Given the description of an element on the screen output the (x, y) to click on. 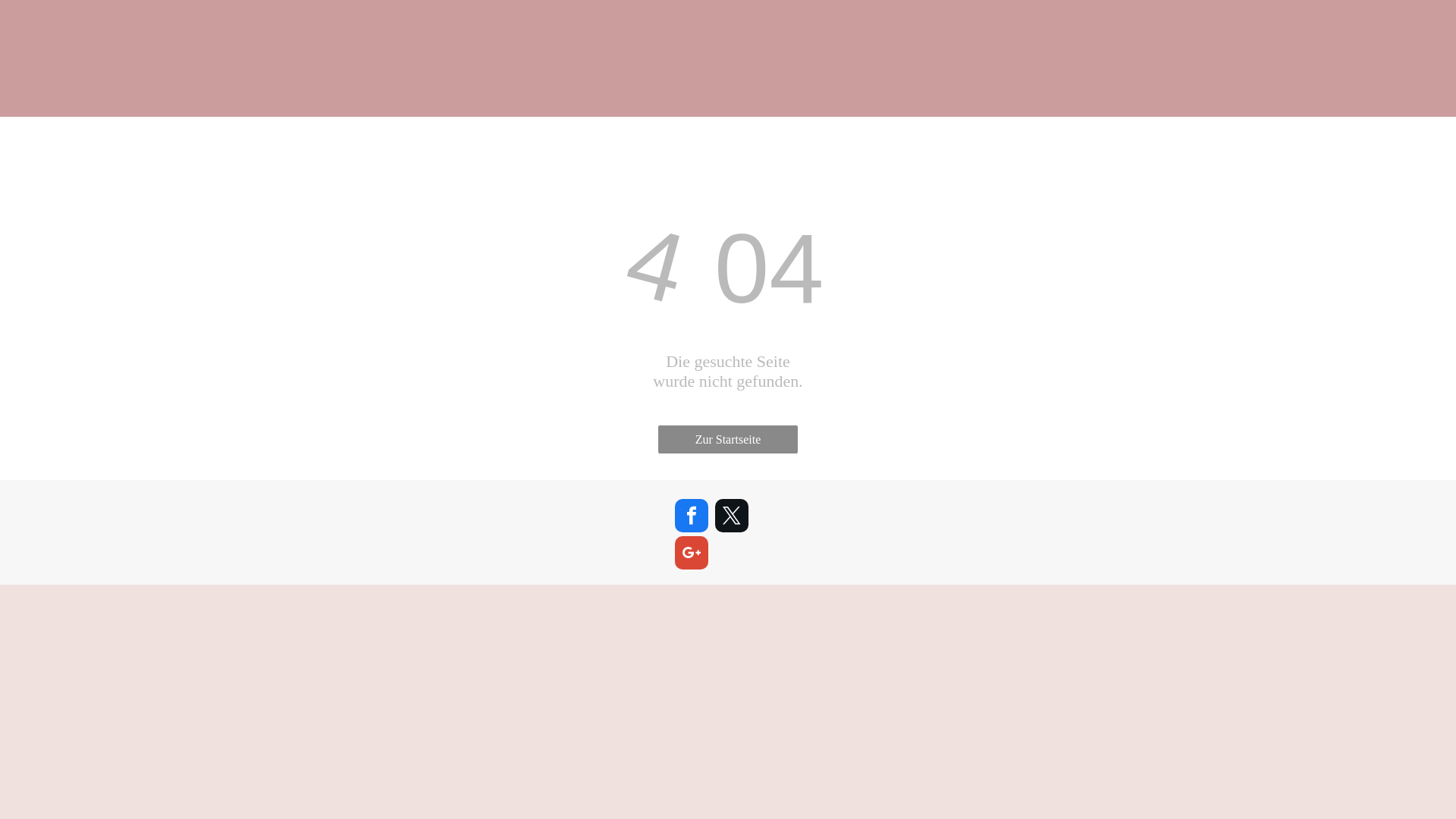
Zur Startseite Element type: text (727, 439)
